Given the description of an element on the screen output the (x, y) to click on. 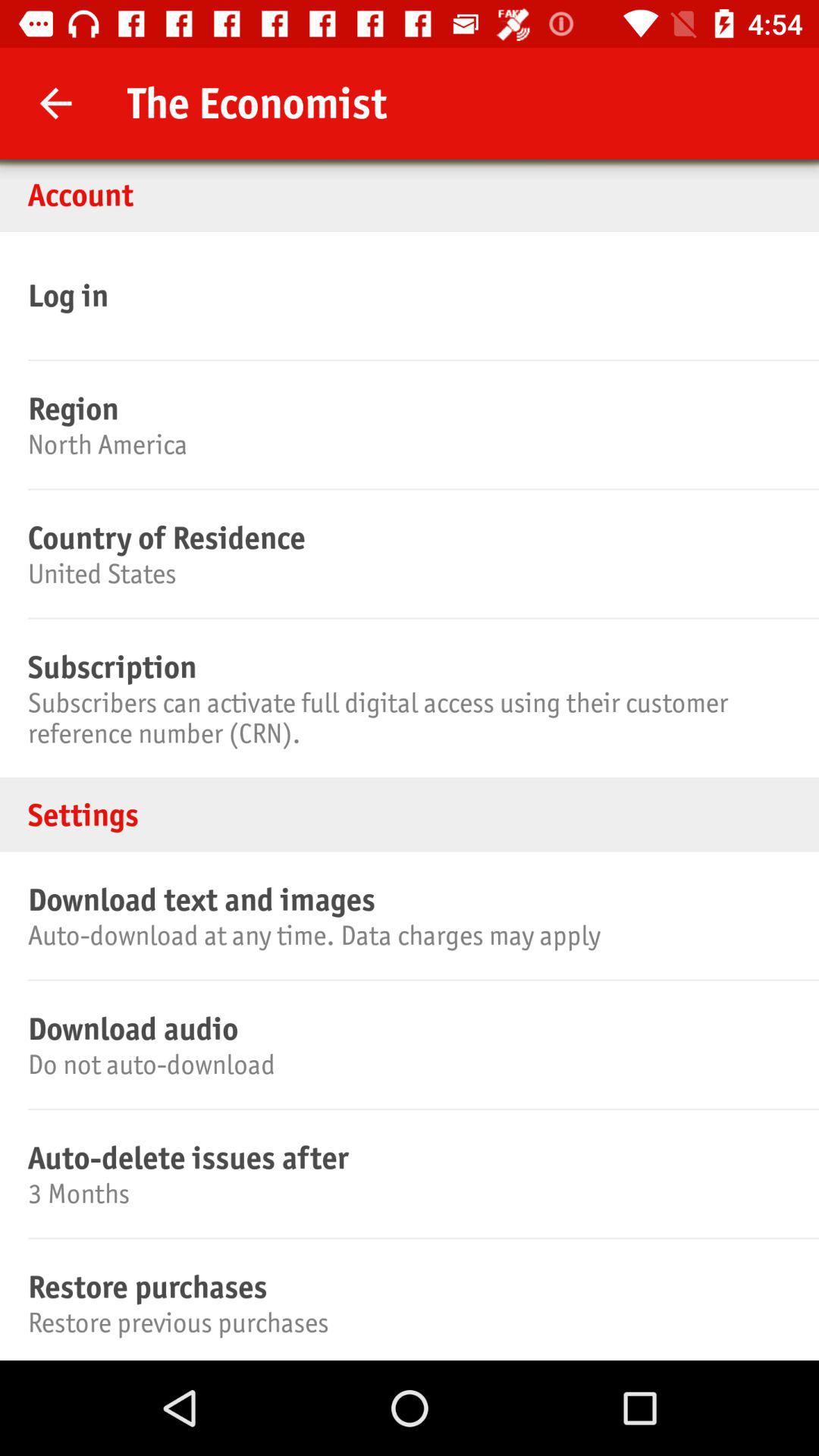
swipe until the settings item (409, 814)
